Given the description of an element on the screen output the (x, y) to click on. 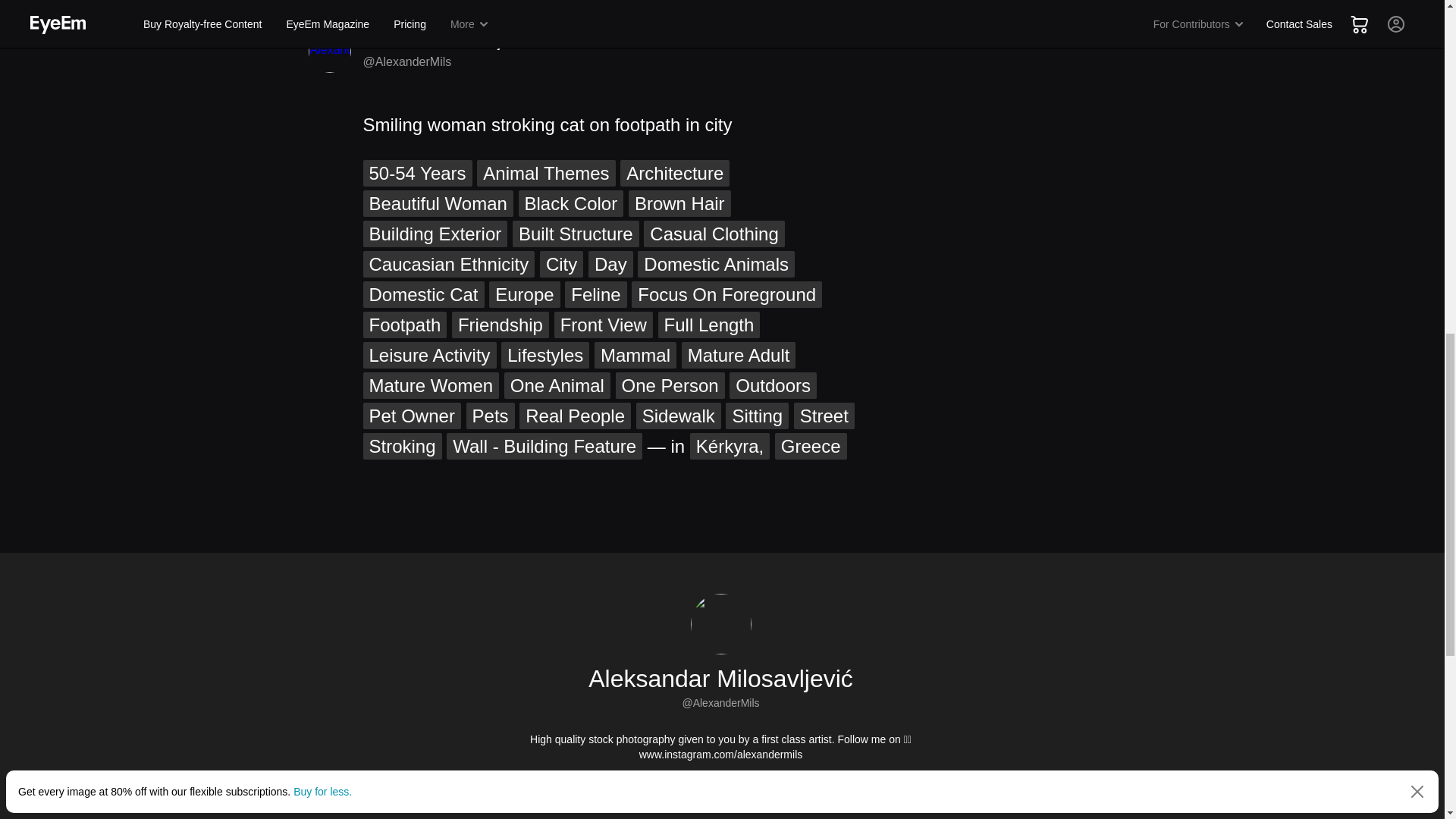
Friendship (499, 325)
Casual Clothing (713, 233)
Front View (603, 325)
Domestic Animals (715, 263)
Day (610, 263)
Building Exterior (434, 233)
Black Color (571, 203)
Beautiful Woman (437, 203)
AlexanderMils (328, 51)
Caucasian Ethnicity (448, 263)
Animal Themes (545, 172)
Footpath (404, 325)
Brown Hair (679, 203)
Focus On Foreground (726, 294)
Built Structure (575, 233)
